Given the description of an element on the screen output the (x, y) to click on. 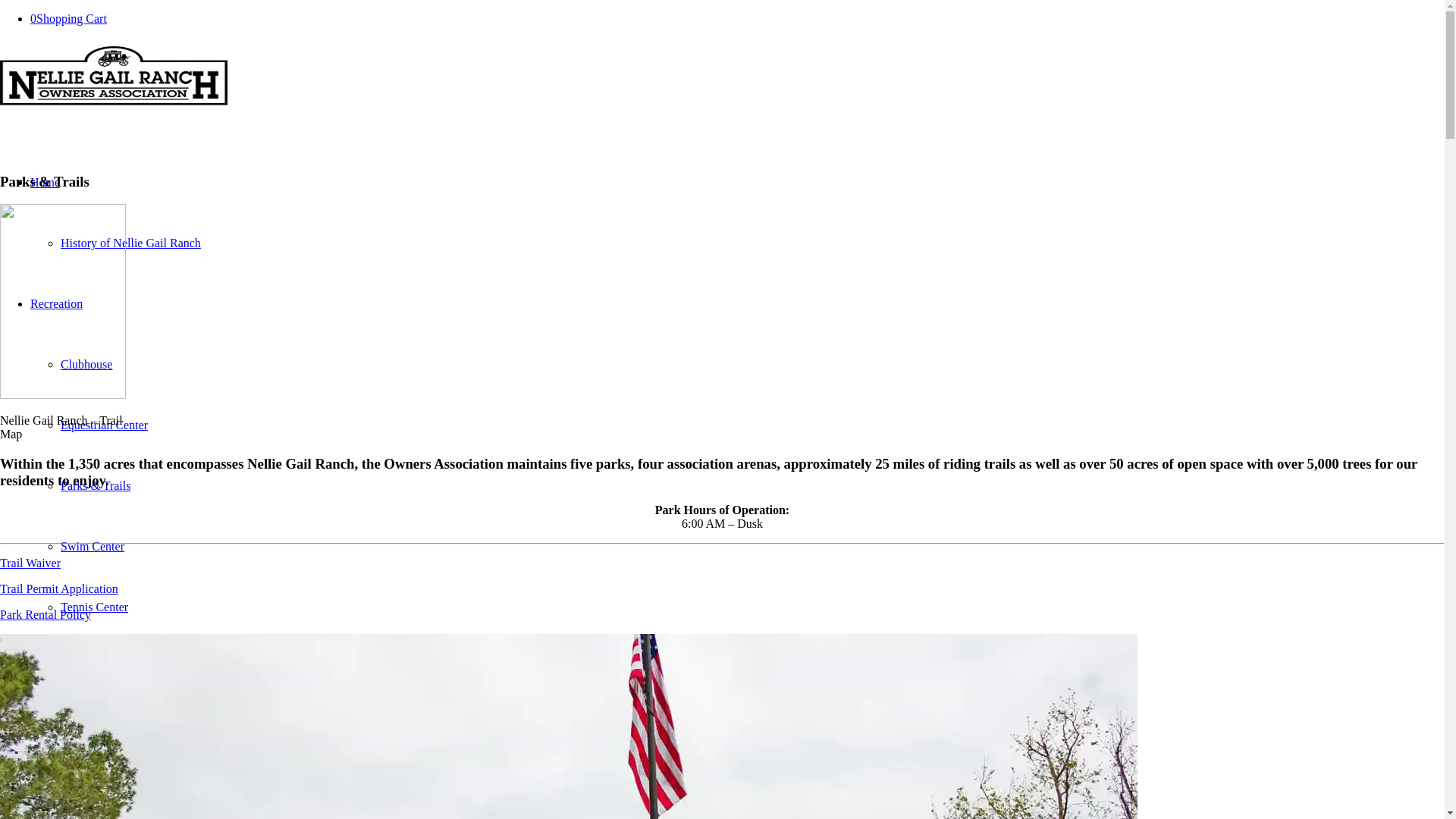
Waiver (43, 562)
Trail Permit Application (58, 588)
Swim Center (92, 545)
Recreation (56, 303)
Pickleball (85, 667)
Equestrian Center (104, 424)
Clubhouse (86, 364)
Home (44, 182)
Park Rental Policy (45, 614)
